Given the description of an element on the screen output the (x, y) to click on. 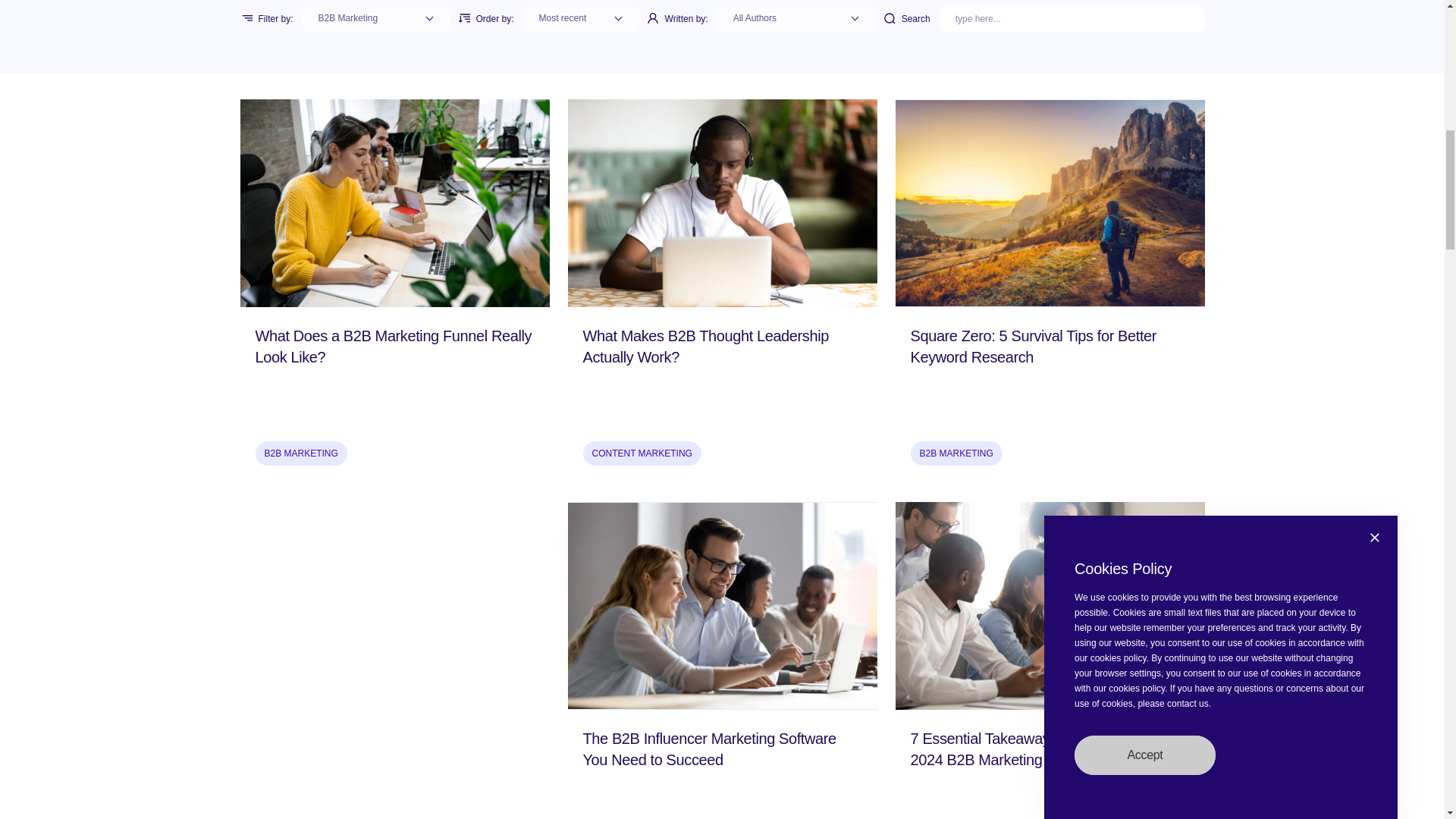
Search (1072, 18)
